Given the description of an element on the screen output the (x, y) to click on. 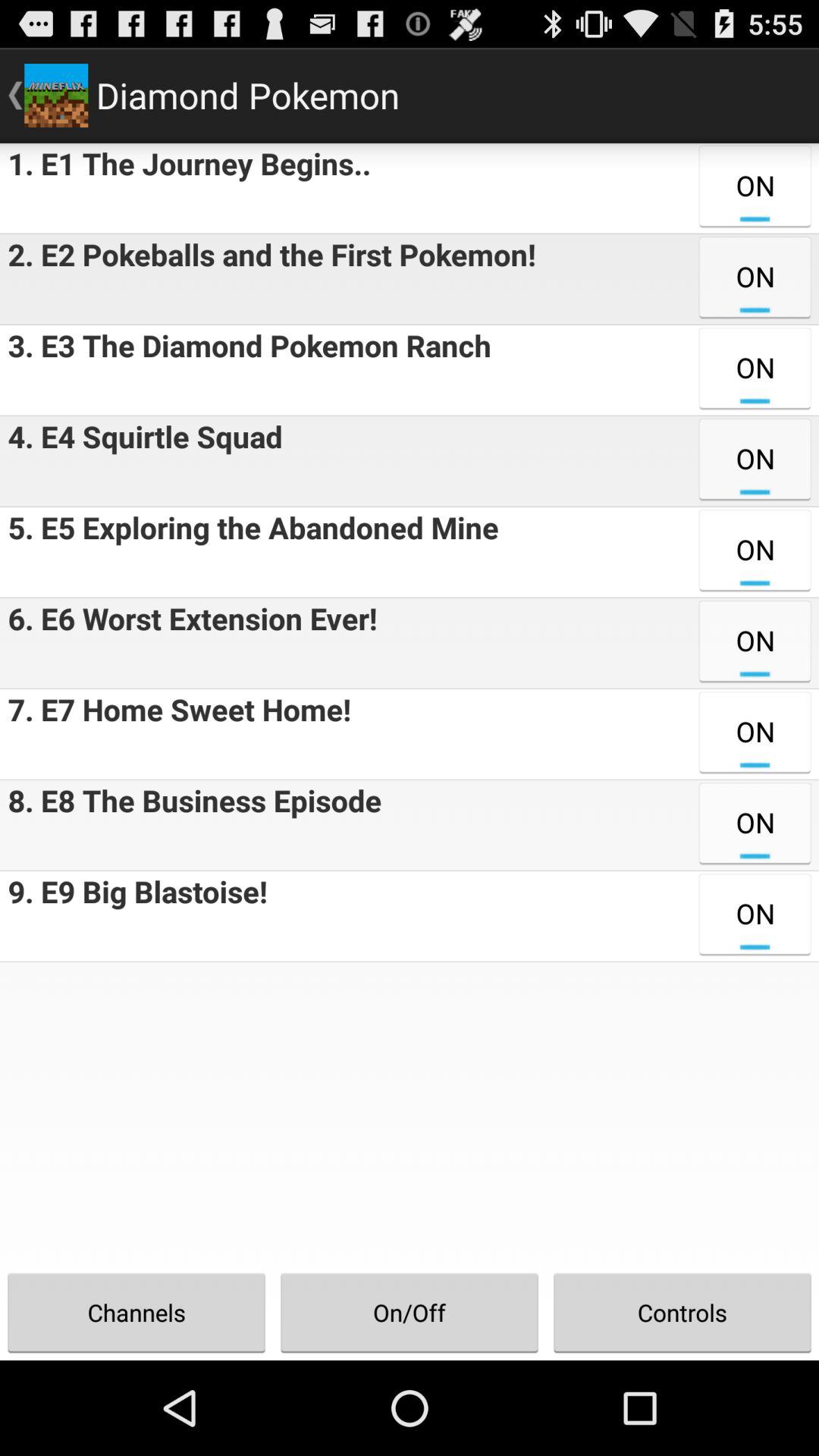
launch the item next to on icon (133, 916)
